Given the description of an element on the screen output the (x, y) to click on. 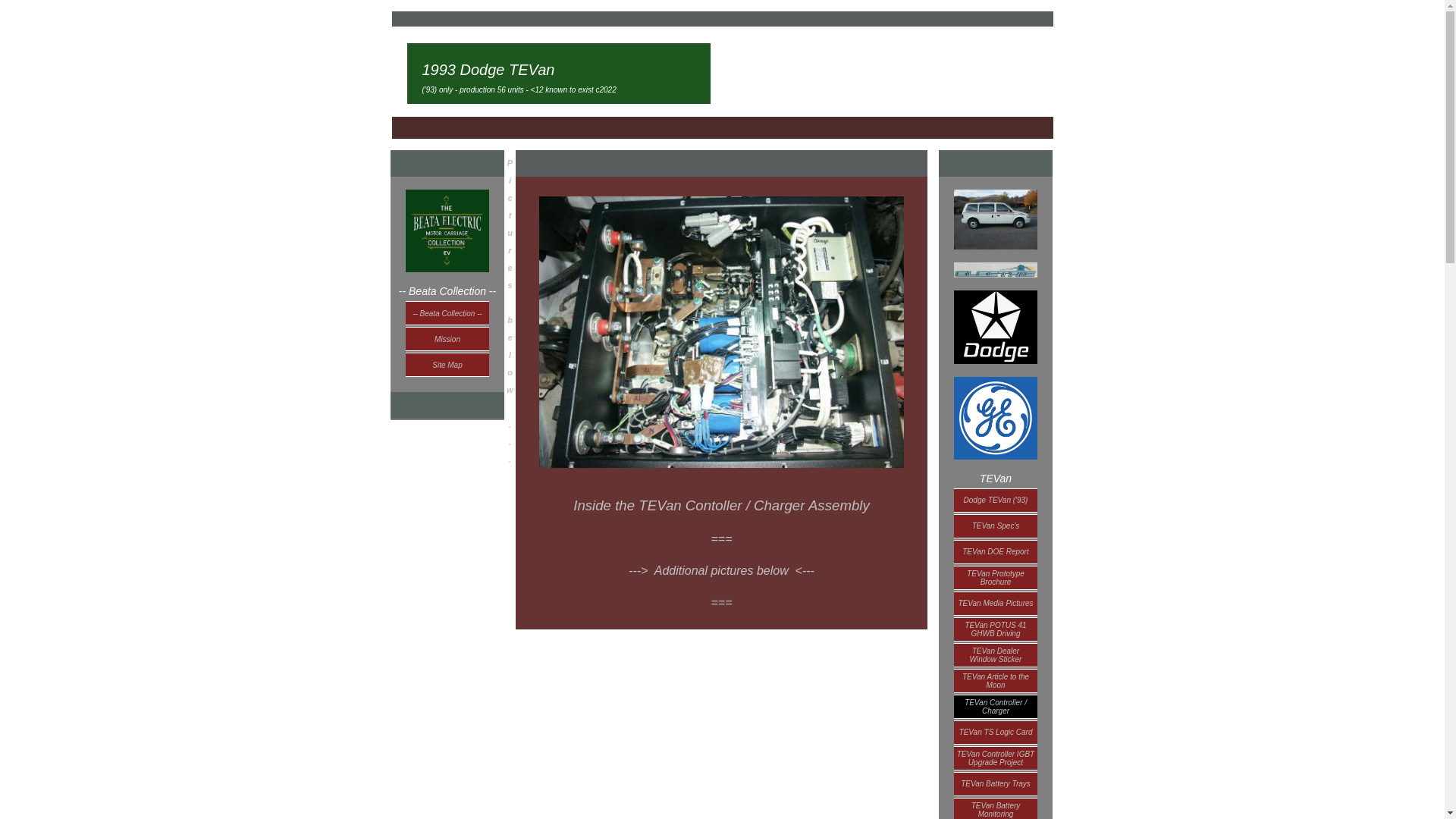
TEVan DOE Report (994, 551)
TEVan Spec's (994, 525)
-- Beata Collection -- (447, 312)
Site Map (447, 363)
Mission (447, 338)
TEVan Controller IGBT Upgrade Project (994, 757)
TEVan Battery Trays (994, 783)
TEVan POTUS 41 GHWB Driving (994, 628)
TEVan TS Logic Card (994, 654)
TEVan Media Pictures (994, 731)
TEVan Prototype Brochure (994, 602)
TEVan Battery Monitoring (994, 576)
TEVan Article to the Moon (994, 807)
